Given the description of an element on the screen output the (x, y) to click on. 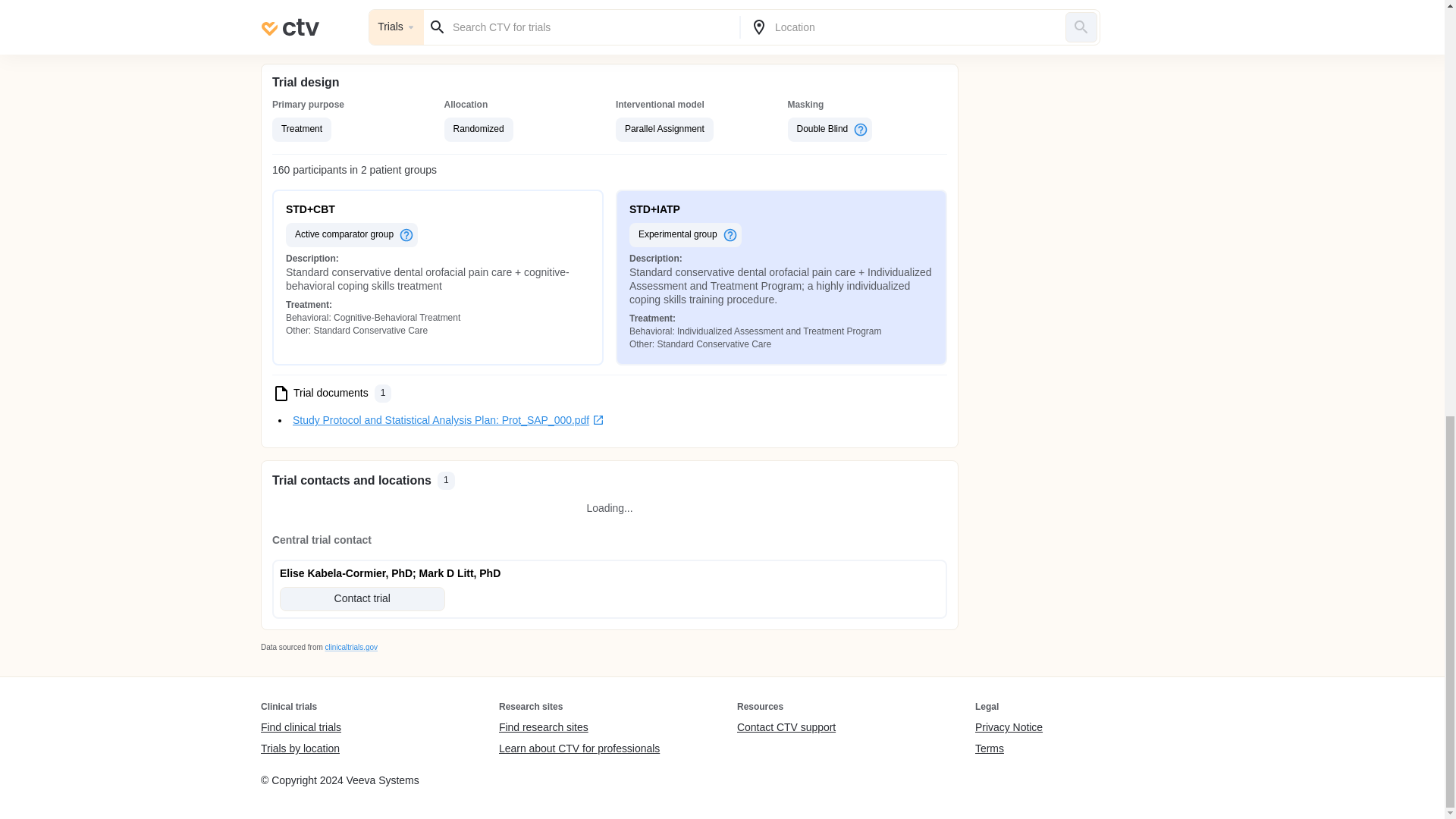
Contact trial (362, 598)
Find research sites (579, 727)
Trials by location (300, 748)
Learn about CTV for professionals (579, 748)
Find clinical trials (300, 727)
Privacy Notice (1008, 727)
Contact CTV support (785, 727)
Terms (1008, 748)
clinicaltrials.gov (350, 646)
